Given the description of an element on the screen output the (x, y) to click on. 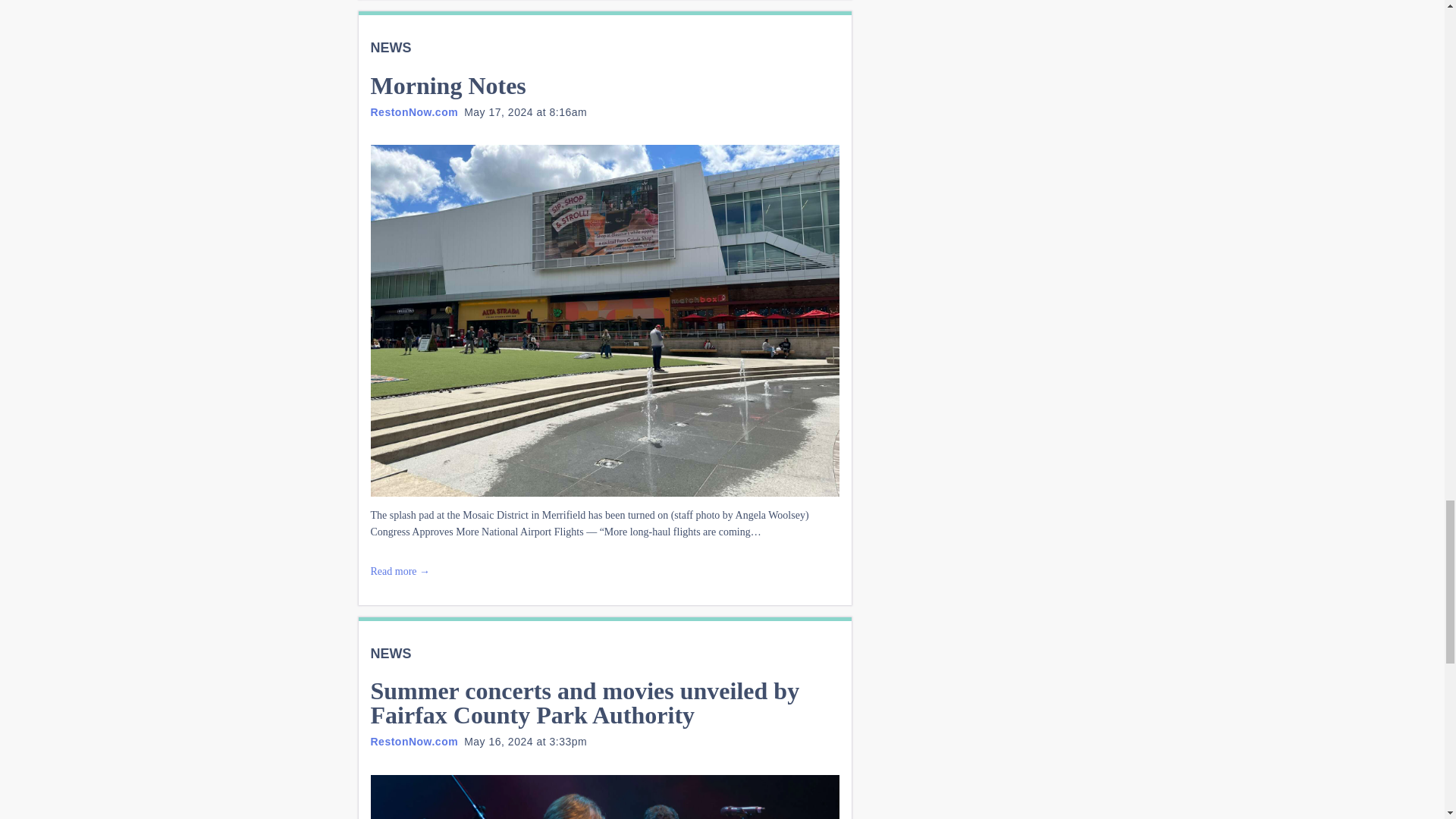
Posts by RestonNow.com (413, 111)
Posts by RestonNow.com (413, 741)
